Given the description of an element on the screen output the (x, y) to click on. 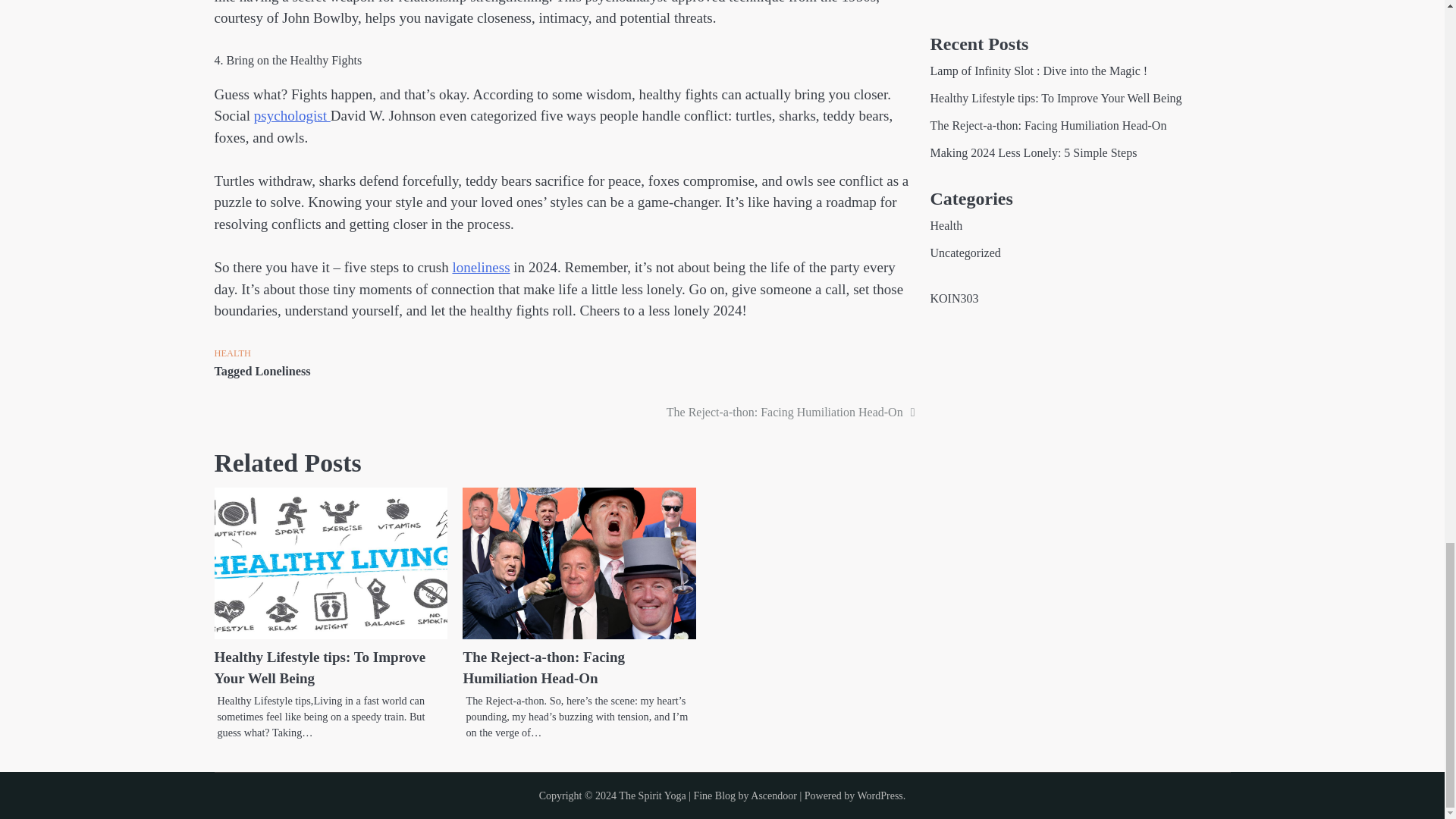
psychologist (291, 115)
HEALTH (232, 353)
WordPress (879, 795)
Loneliness (282, 371)
The Reject-a-thon: Facing Humiliation Head-On (543, 668)
The Reject-a-thon: Facing Humiliation Head-On (790, 412)
The Spirit Yoga (651, 795)
loneliness (480, 267)
Healthy Lifestyle tips: To Improve Your Well Being (319, 668)
Ascendoor (773, 795)
